Given the description of an element on the screen output the (x, y) to click on. 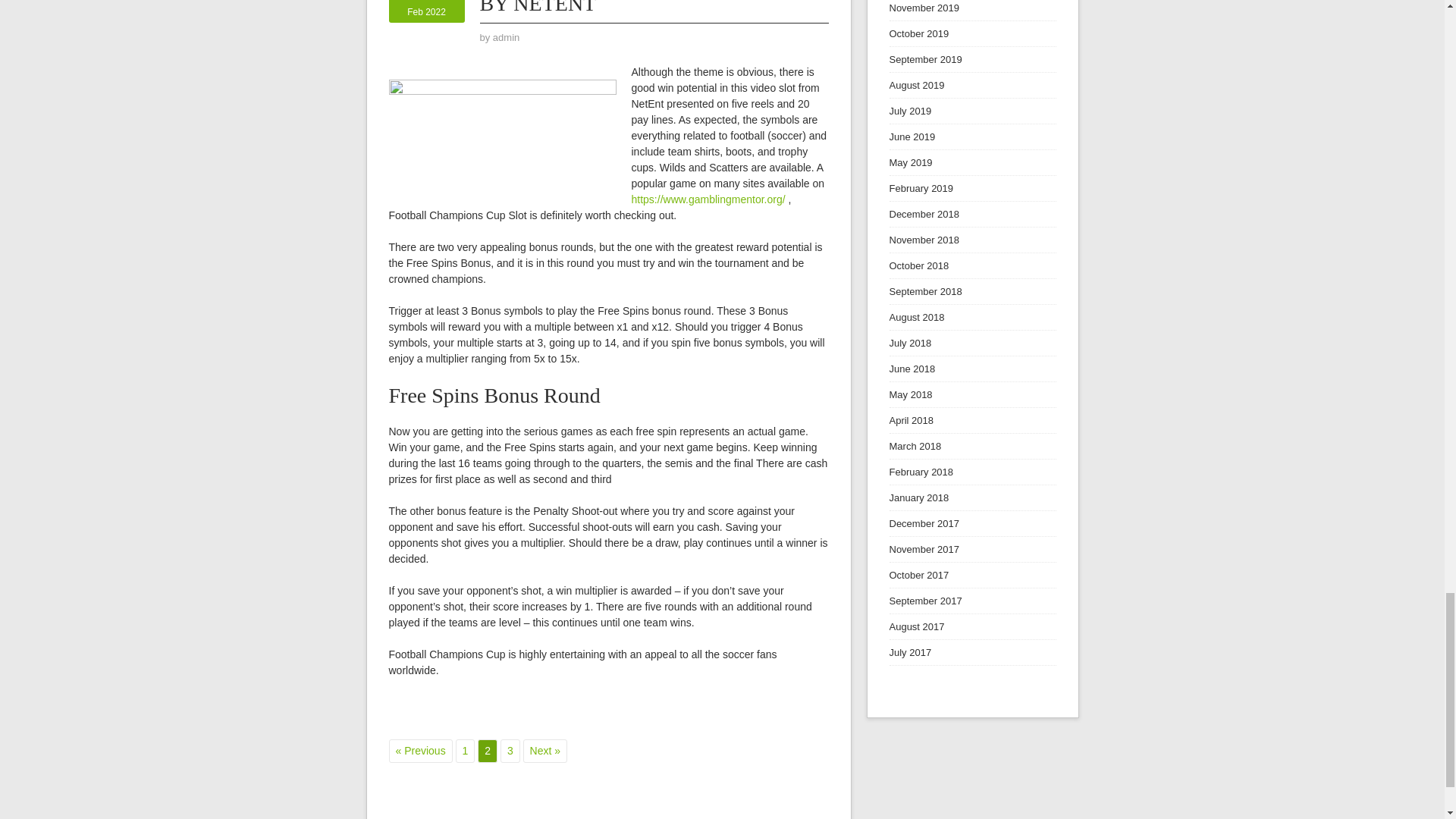
Permalink to Football Champions Cup Slot by Netent (426, 8)
admin (651, 7)
February 3, 2022 2:59 pm (506, 37)
by admin (426, 8)
FOOTBALL CHAMPIONS CUP SLOT BY NETENT (506, 37)
